Given the description of an element on the screen output the (x, y) to click on. 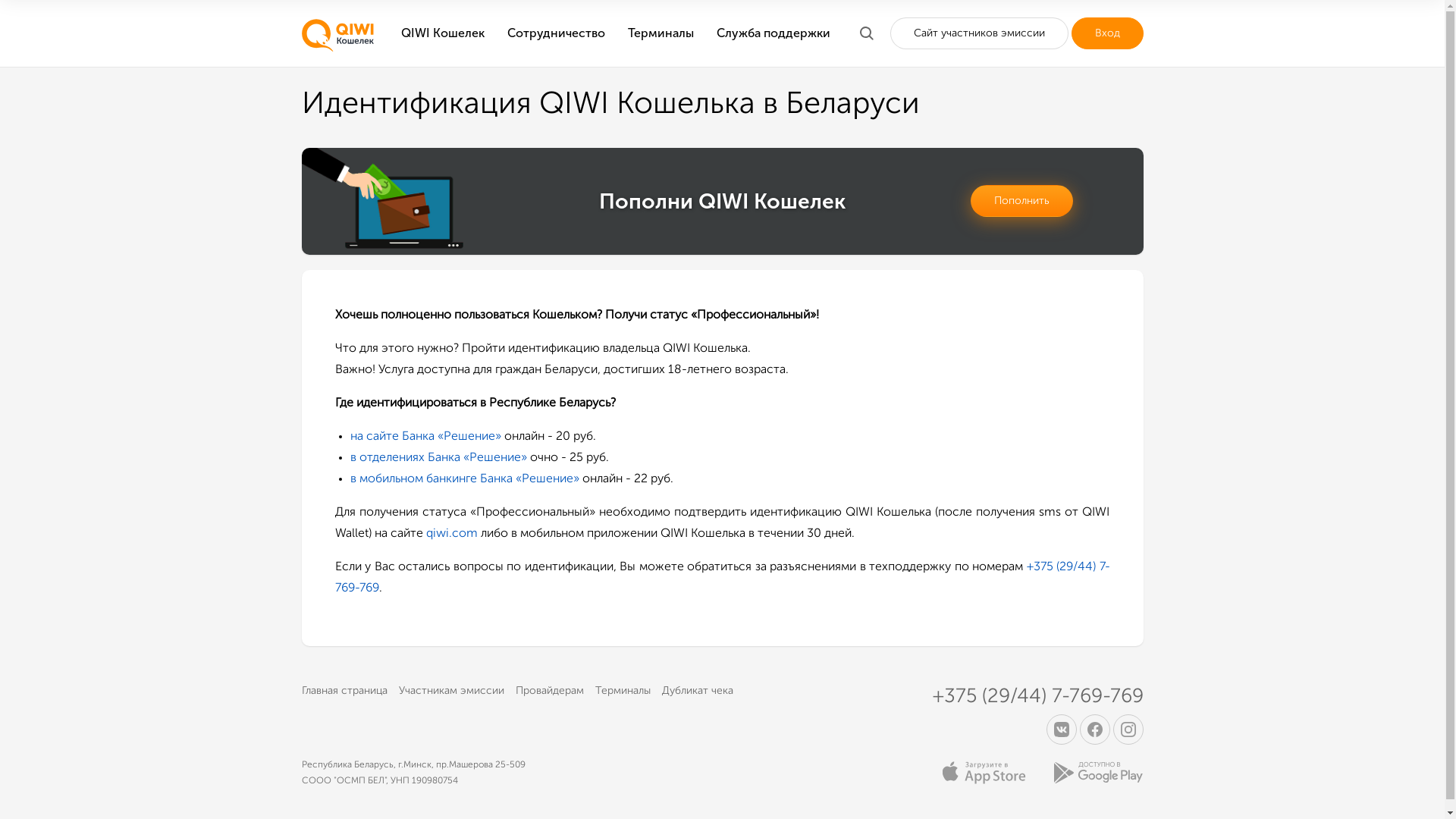
qiwi.com Element type: text (451, 533)
+375 (29/44) 7-769-769 Element type: text (722, 577)
+375 (29/44) 7-769-769 Element type: text (1037, 696)
